Given the description of an element on the screen output the (x, y) to click on. 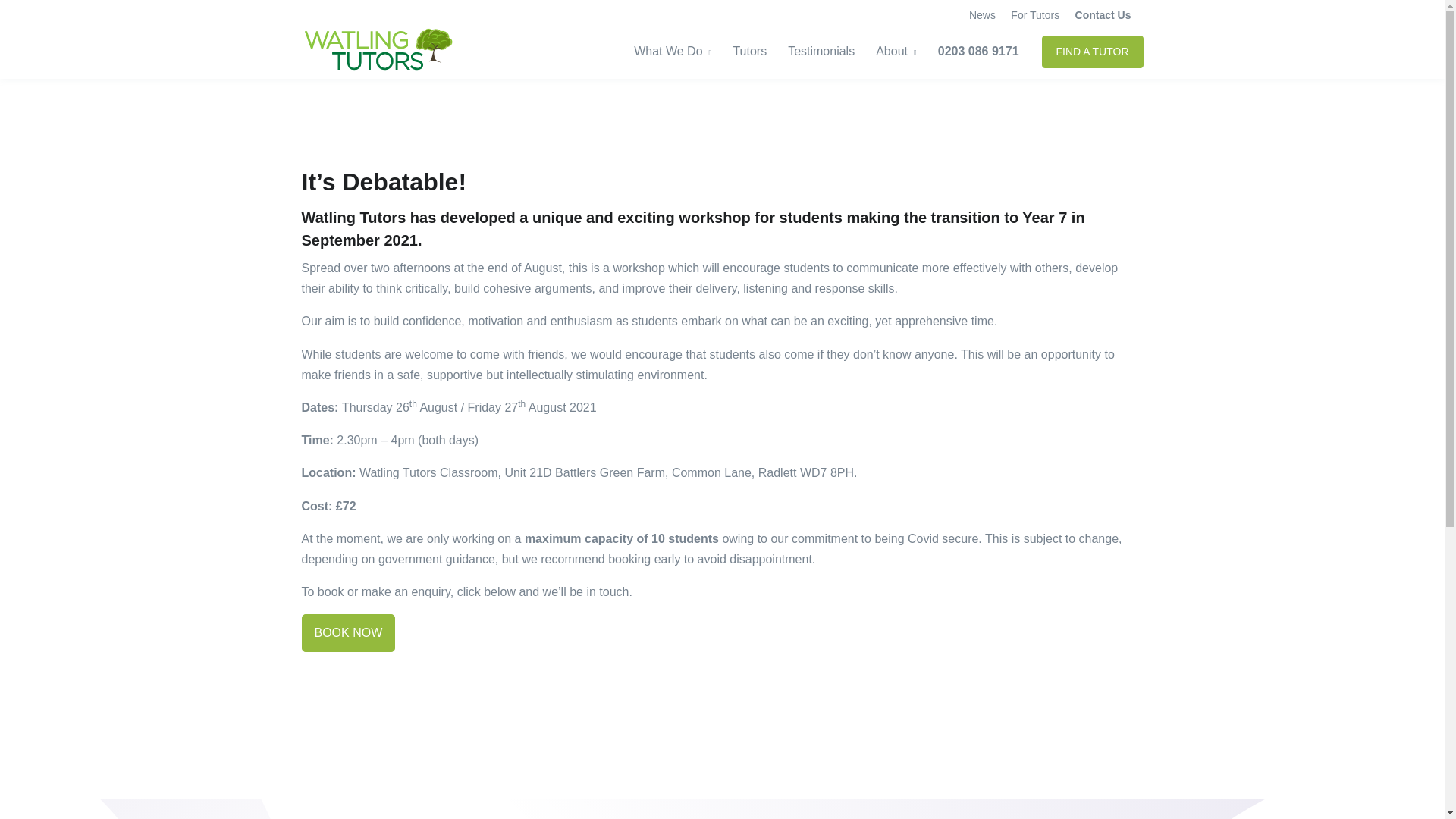
FIND A TUTOR (1092, 51)
Testimonials (820, 51)
News (981, 15)
FIND A TUTOR (1092, 51)
About (895, 51)
Tutors (749, 51)
0203 086 9171 (978, 51)
What We Do (677, 51)
BOOK NOW (348, 632)
What We Do (677, 51)
For Tutors (1034, 15)
Tutors (749, 51)
About (895, 51)
0203 086 9171 (978, 51)
